Given the description of an element on the screen output the (x, y) to click on. 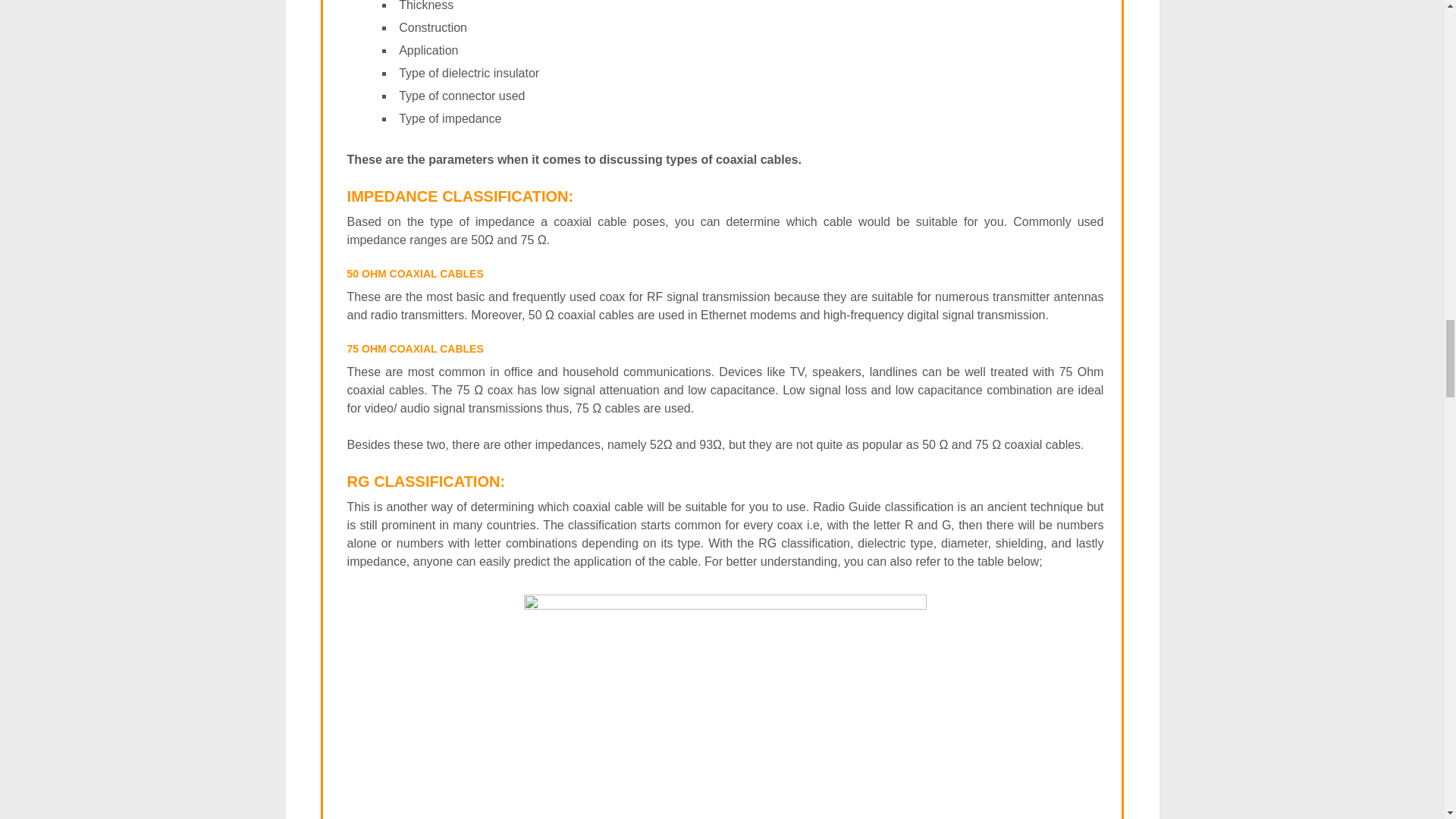
RG Classification (725, 706)
